Given the description of an element on the screen output the (x, y) to click on. 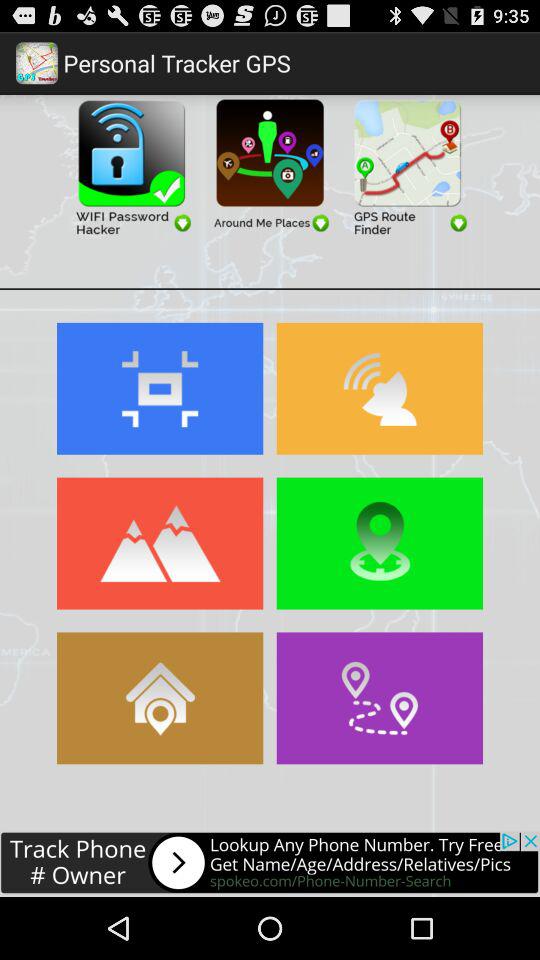
select the widget (269, 165)
